Given the description of an element on the screen output the (x, y) to click on. 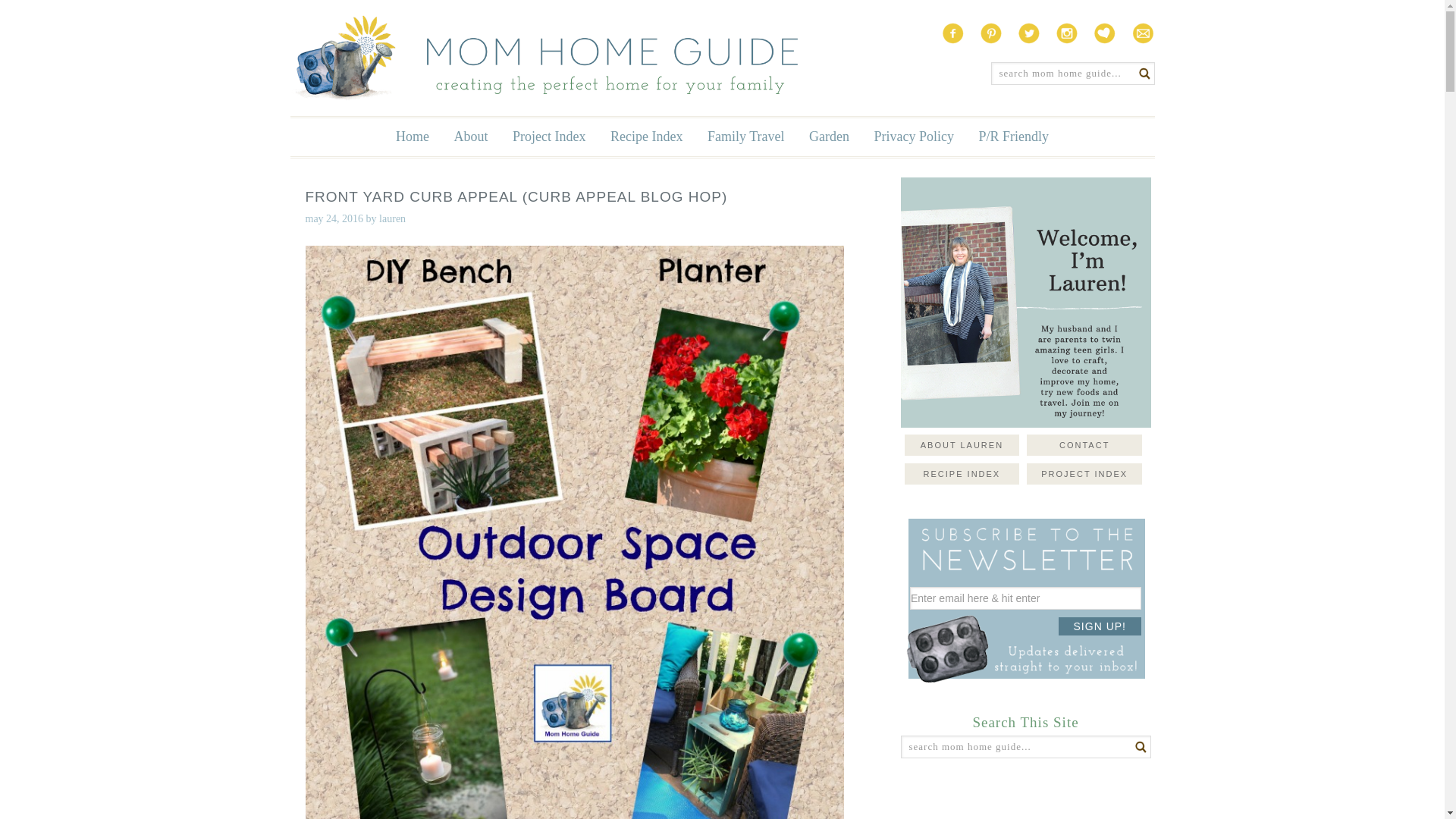
Project Index (548, 136)
Recipe Index (646, 136)
Family Travel (745, 136)
Sign Up! (1099, 626)
Home (412, 136)
lauren (392, 218)
MOMHOMEGUIDE.COM (542, 57)
Privacy Policy (913, 136)
Garden (828, 136)
About (471, 136)
